Given the description of an element on the screen output the (x, y) to click on. 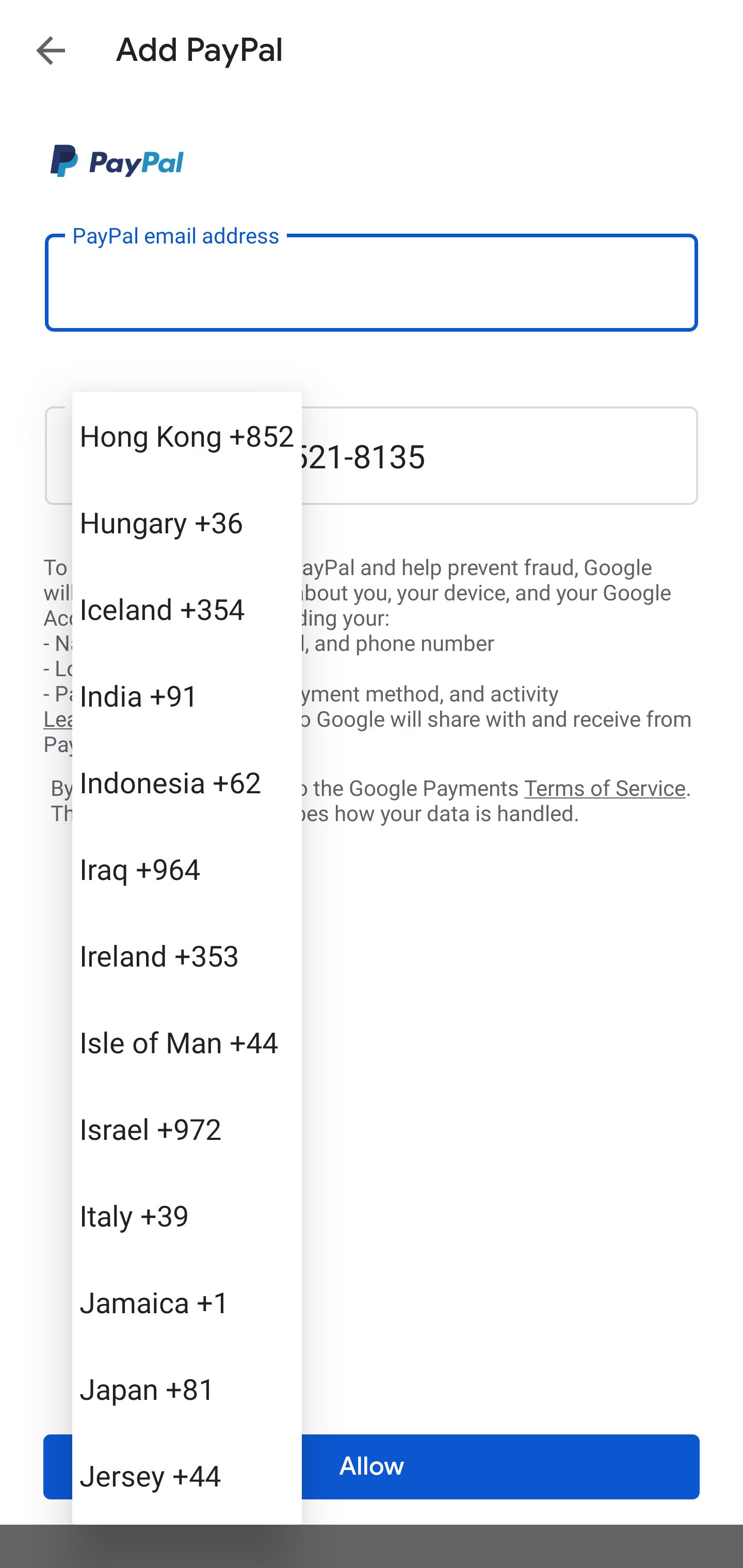
Hong Kong +852 (186, 435)
Hungary +36 (186, 522)
Iceland +354 (186, 609)
India +91 (186, 695)
Indonesia +62 (186, 781)
Iraq +964 (186, 868)
Ireland +353 (186, 955)
Isle of Man +44 (186, 1041)
Israel +972 (186, 1128)
Italy +39 (186, 1215)
Jamaica +1 (186, 1302)
Japan +81 (186, 1388)
Jersey +44 (186, 1474)
